Given the description of an element on the screen output the (x, y) to click on. 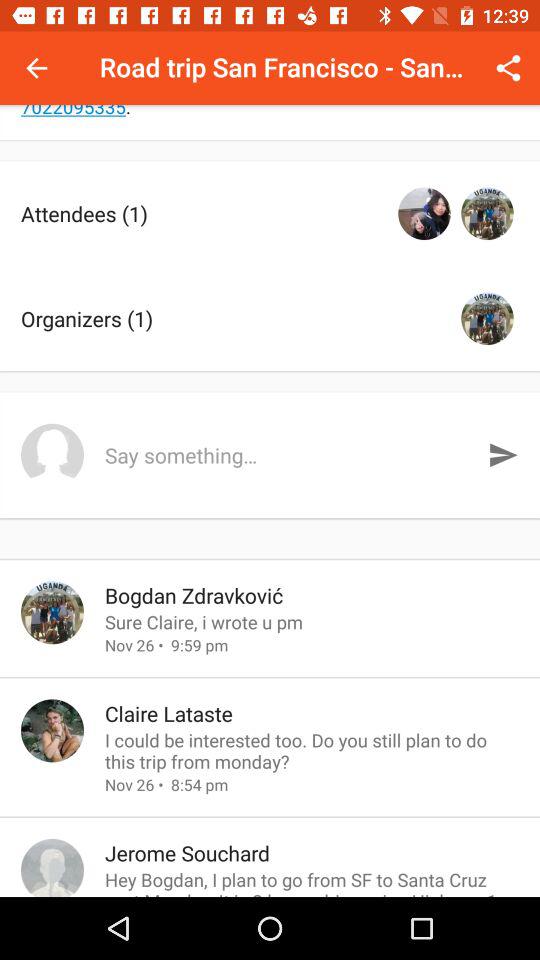
turn off the icon above the i am planning item (36, 68)
